Given the description of an element on the screen output the (x, y) to click on. 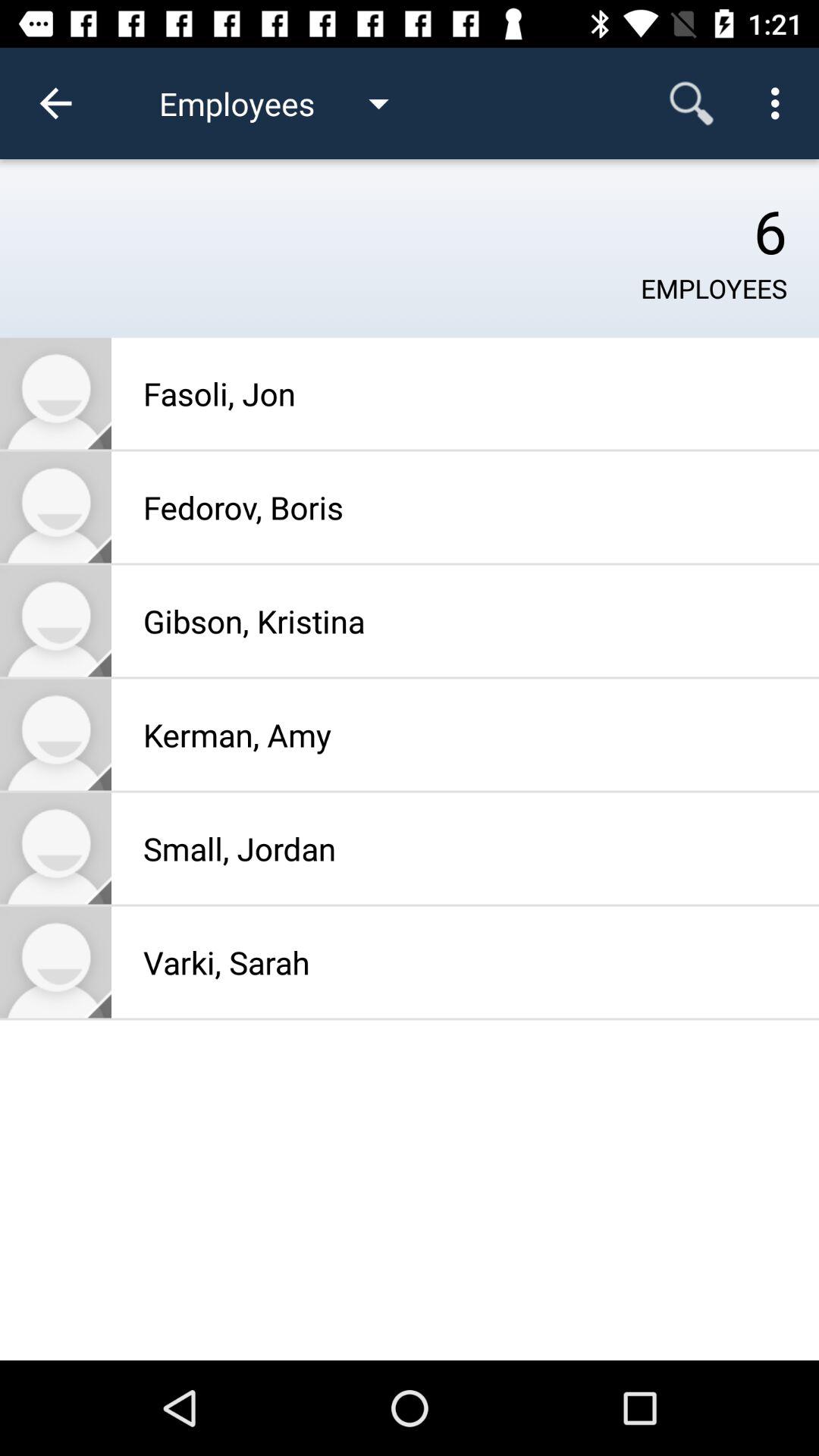
show picture of contact (55, 962)
